Given the description of an element on the screen output the (x, y) to click on. 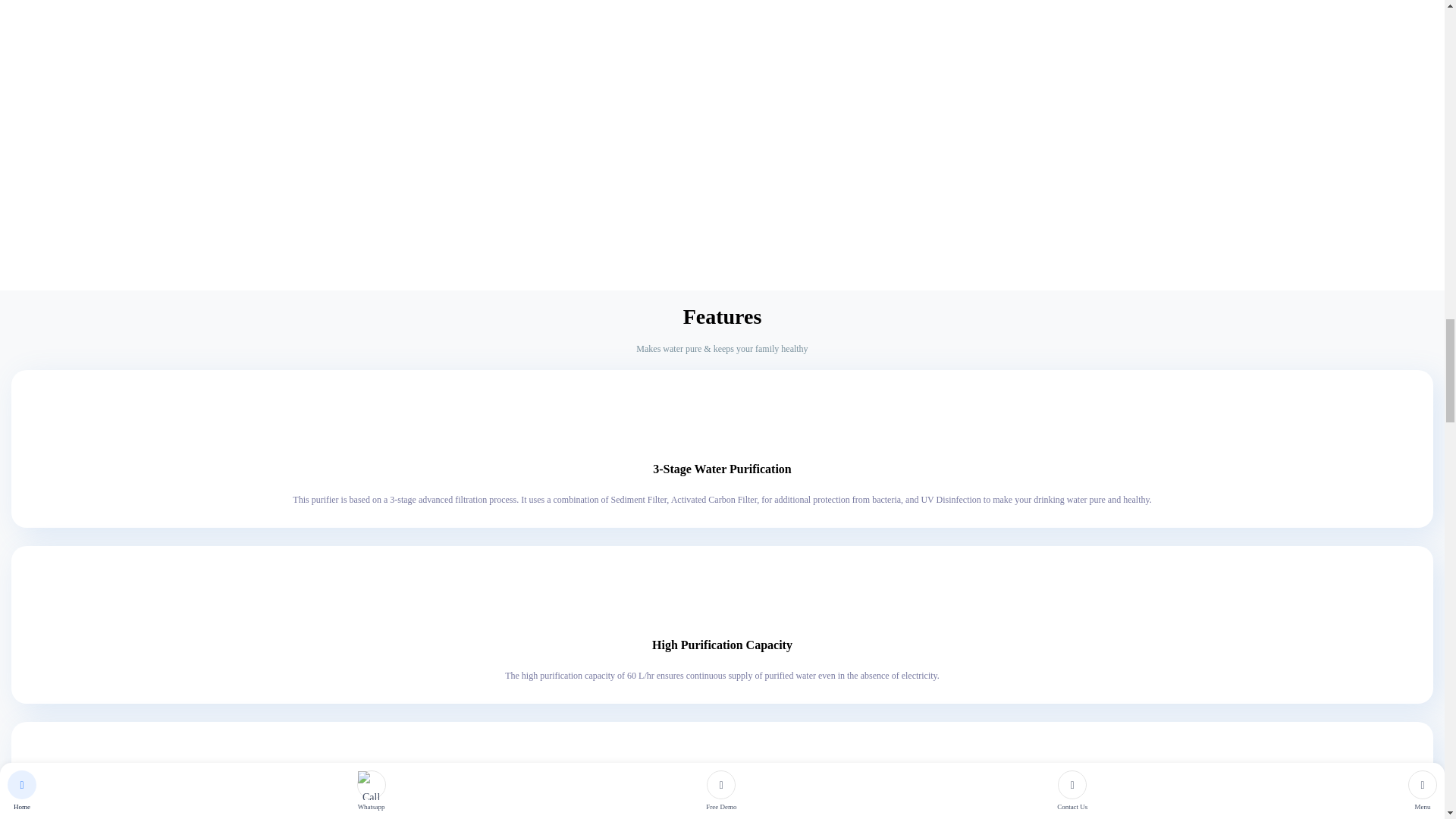
3-Stage Water Purification (722, 423)
Computer-Controlled Operation (722, 775)
High Purification Capacity (722, 599)
